Given the description of an element on the screen output the (x, y) to click on. 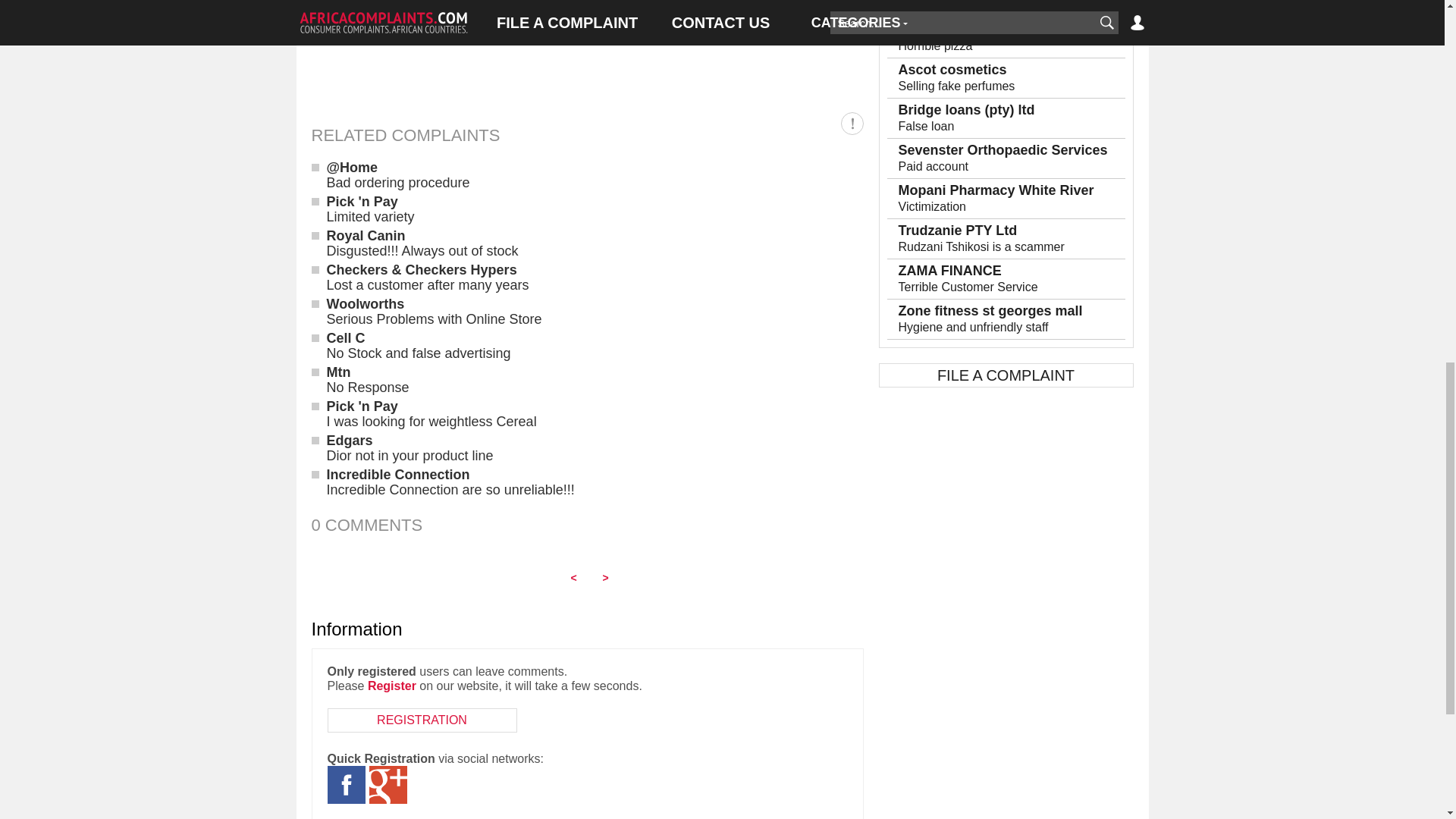
Advertisement (587, 46)
Login with Facebook (346, 784)
Login with Google (387, 784)
